Given the description of an element on the screen output the (x, y) to click on. 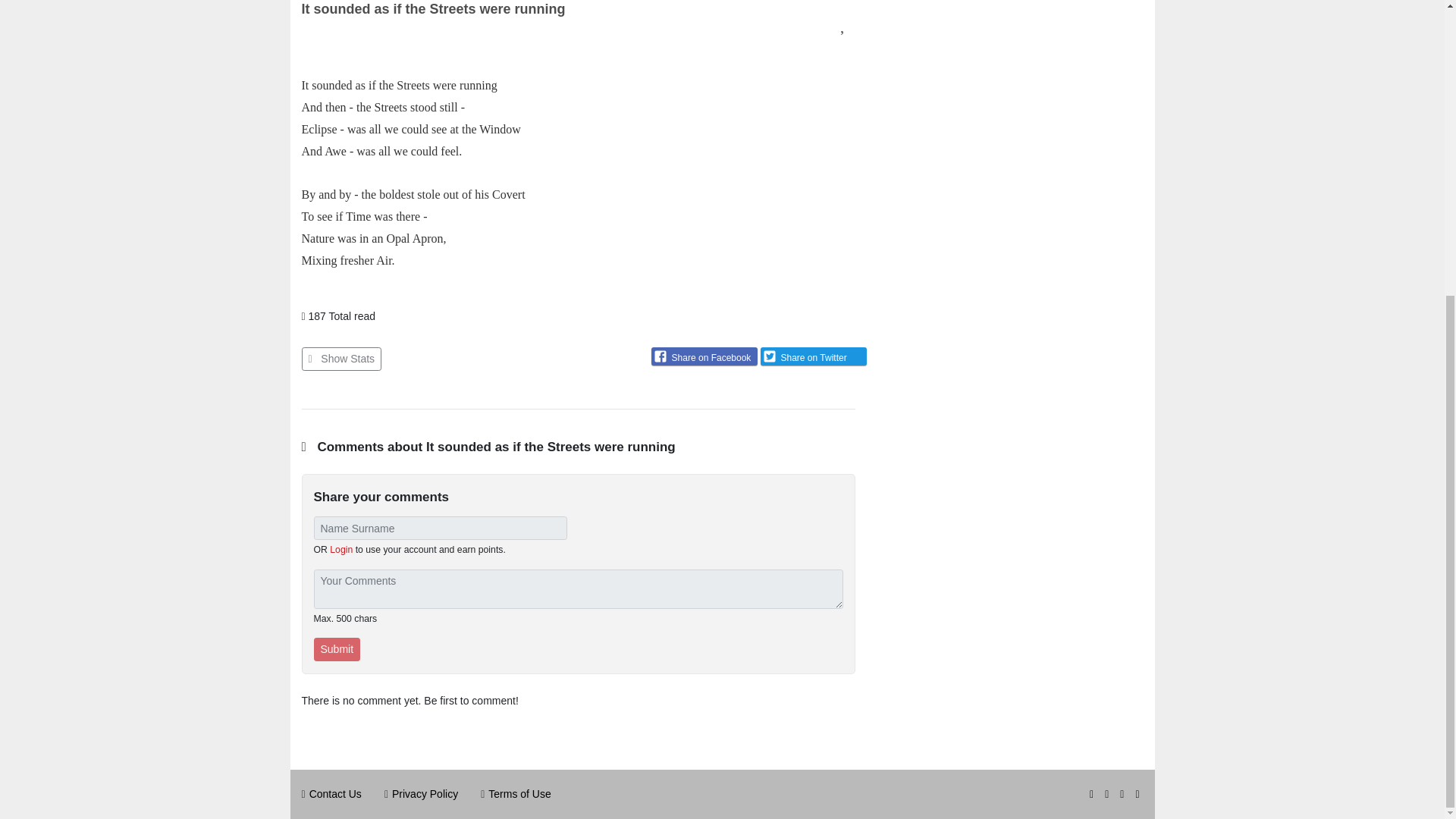
Submit (337, 649)
Privacy Policy (424, 793)
Contact Us (334, 793)
Share on Twitter (813, 356)
Login (341, 549)
  Show Stats (341, 359)
Share on Facebook (703, 356)
Terms of Use (518, 793)
Terms of Use (518, 793)
Contact Us (334, 793)
